Given the description of an element on the screen output the (x, y) to click on. 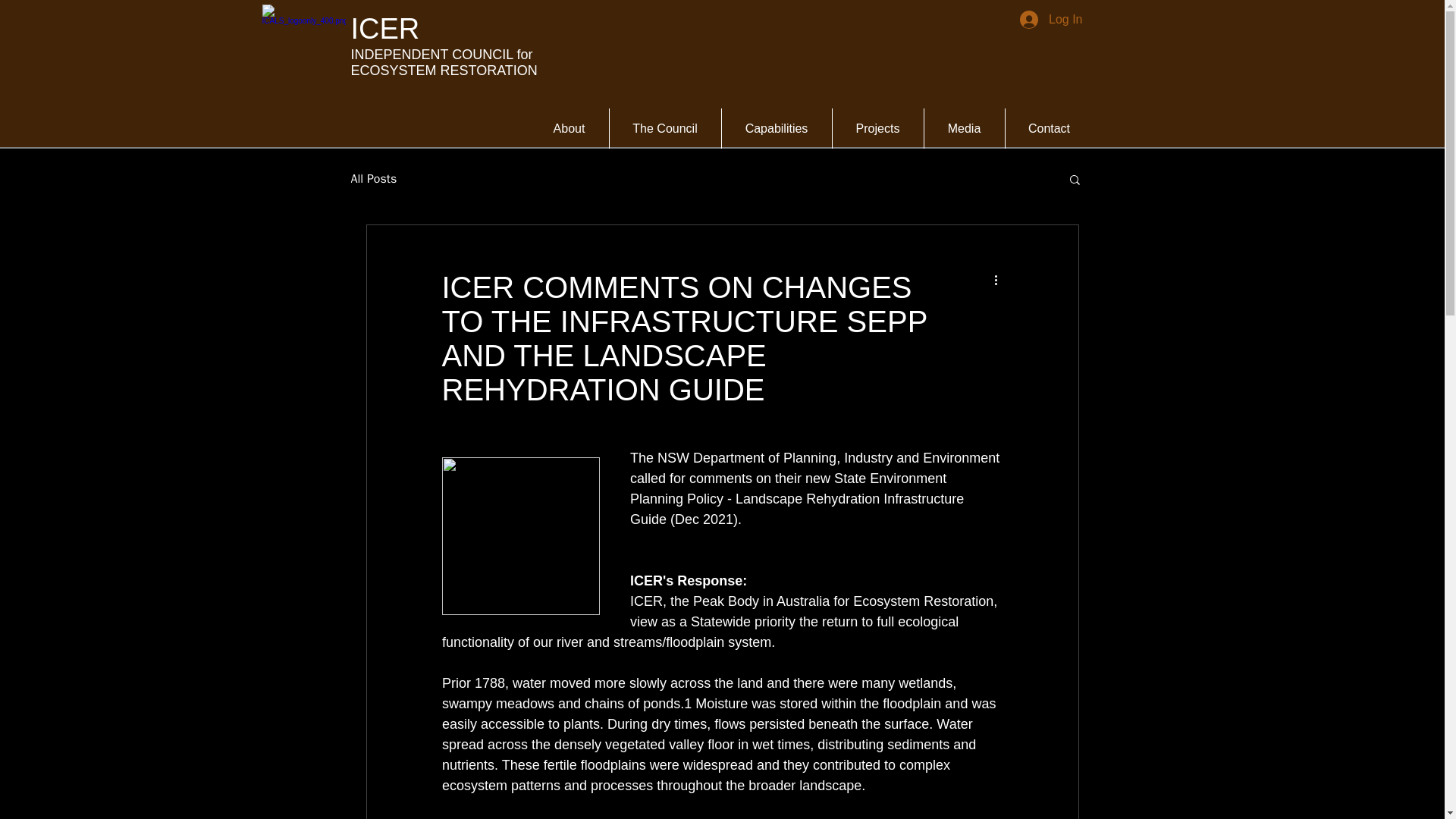
Contact (1049, 128)
Media (963, 128)
About (568, 128)
All Posts (373, 179)
Log In (1051, 19)
Capabilities (776, 128)
The Council (665, 128)
ICER (384, 29)
Projects (877, 128)
